Given the description of an element on the screen output the (x, y) to click on. 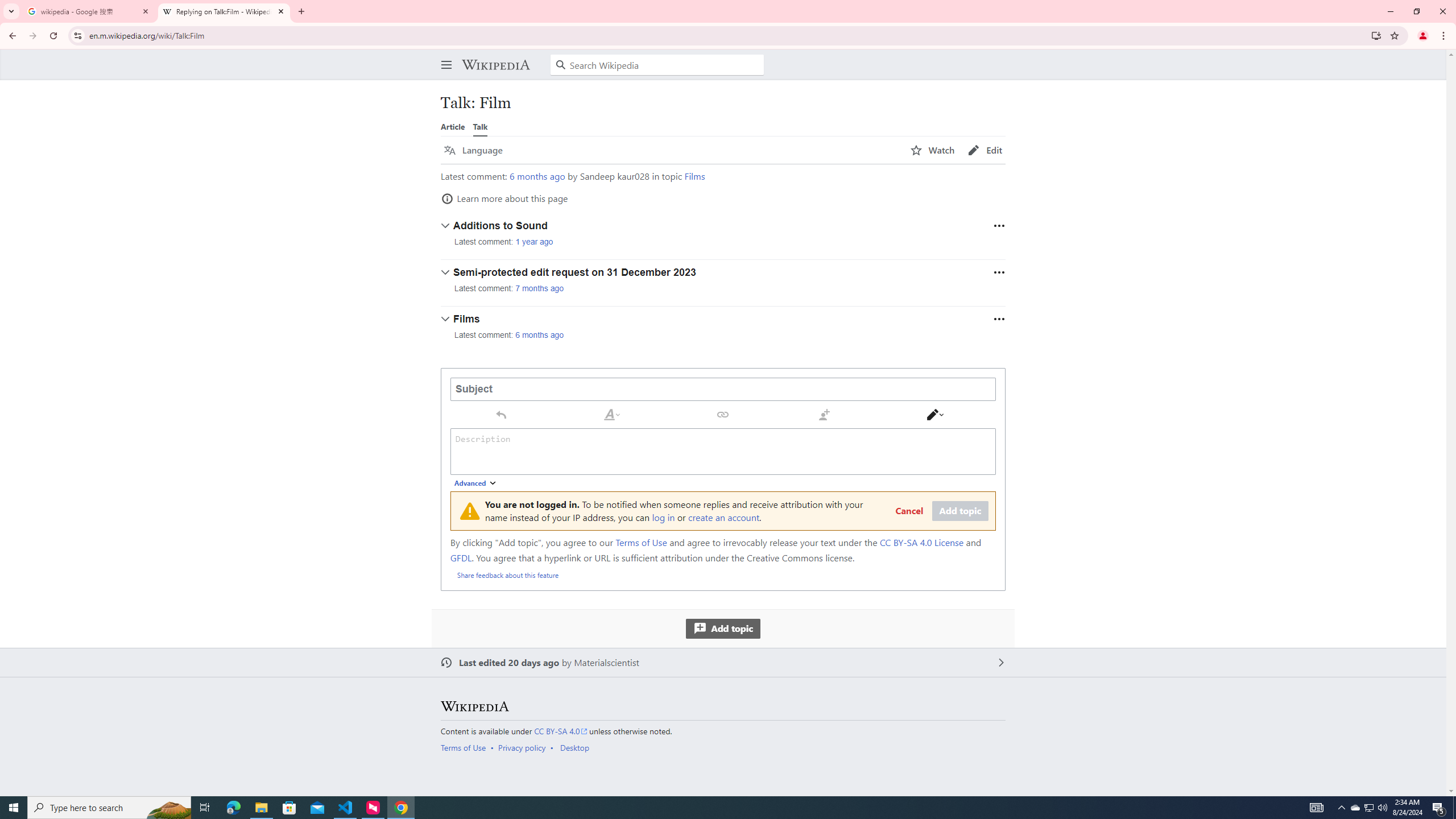
Subject (722, 388)
Desktop (574, 747)
Link Ctrl+K (723, 414)
Add topic (722, 628)
Advanced (475, 483)
CC BY-SA 4.0 License (921, 542)
Wikipedia (474, 706)
Talk (480, 126)
